Given the description of an element on the screen output the (x, y) to click on. 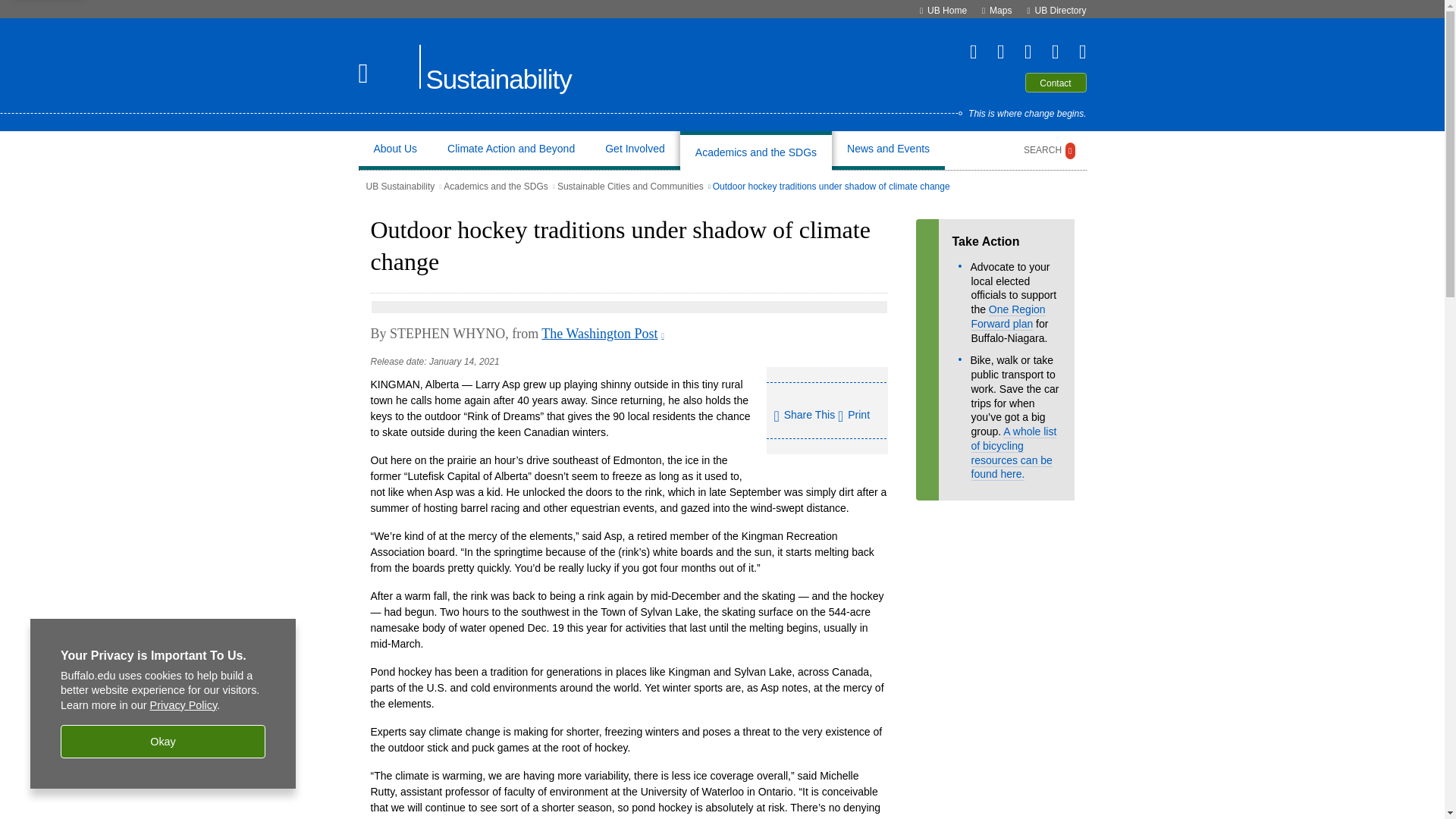
Get Involved (634, 150)
Academics and the SDGs (756, 150)
This link opens a page in a new window or tab. (602, 333)
Climate Action and Beyond (510, 150)
This link opens a page in a new window or tab. (662, 335)
X (966, 51)
Spotify (1075, 51)
UB Directory (1059, 9)
Facebook (994, 51)
About Us (394, 150)
Contact (1055, 82)
Maps (1000, 9)
Instagram (1048, 51)
UB Home (946, 9)
Sustainability (499, 79)
